Given the description of an element on the screen output the (x, y) to click on. 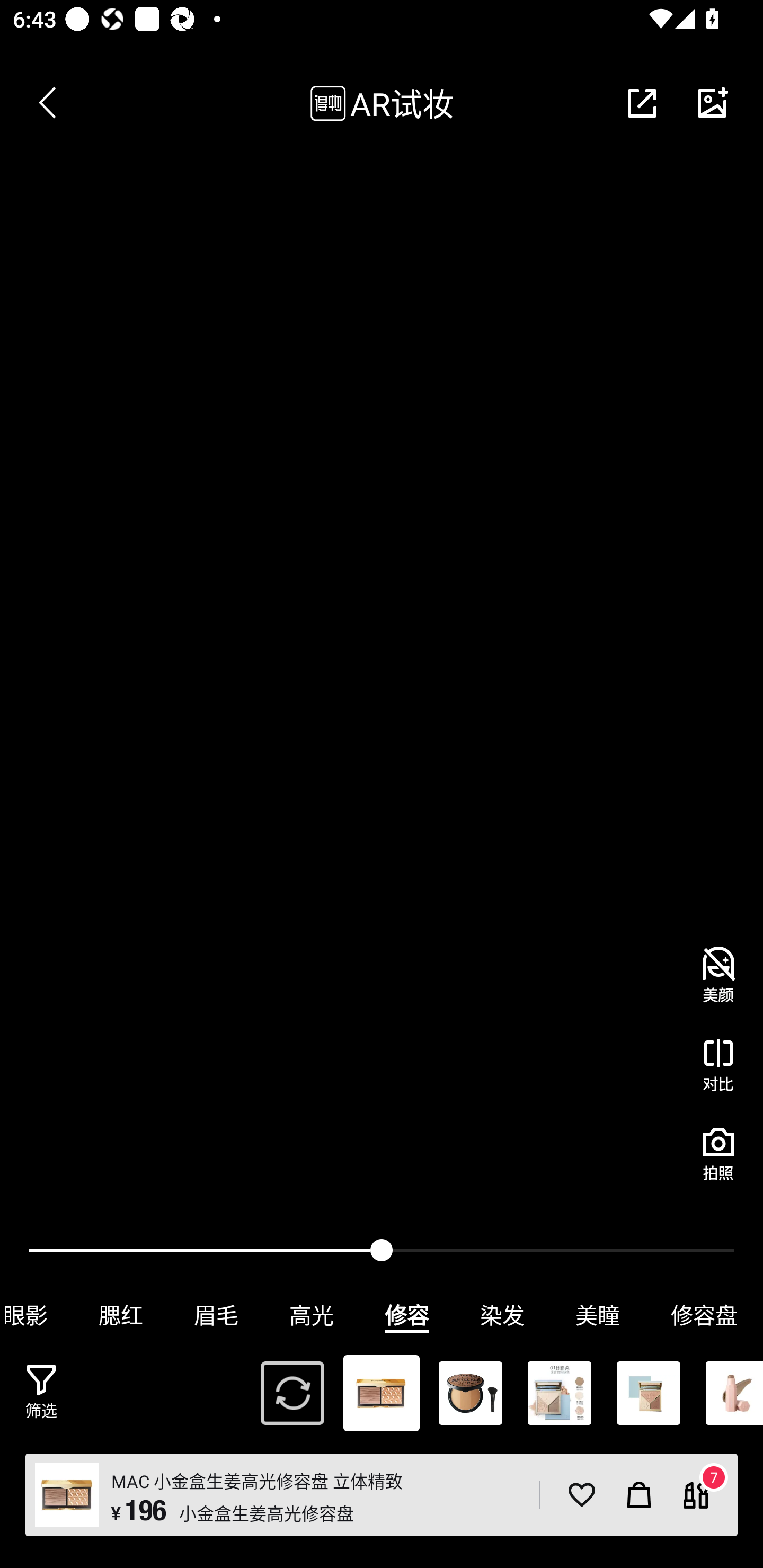
眼影 (36, 1315)
腮红 (120, 1315)
眉毛 (215, 1315)
高光 (311, 1315)
修容 (406, 1315)
染发 (502, 1315)
美瞳 (597, 1315)
修容盘 (704, 1315)
筛选 (41, 1392)
MAC 小金盒生姜高光修容盘 立体精致 ¥ 196 小金盒生姜高光修容盘 7 (381, 1494)
